Given the description of an element on the screen output the (x, y) to click on. 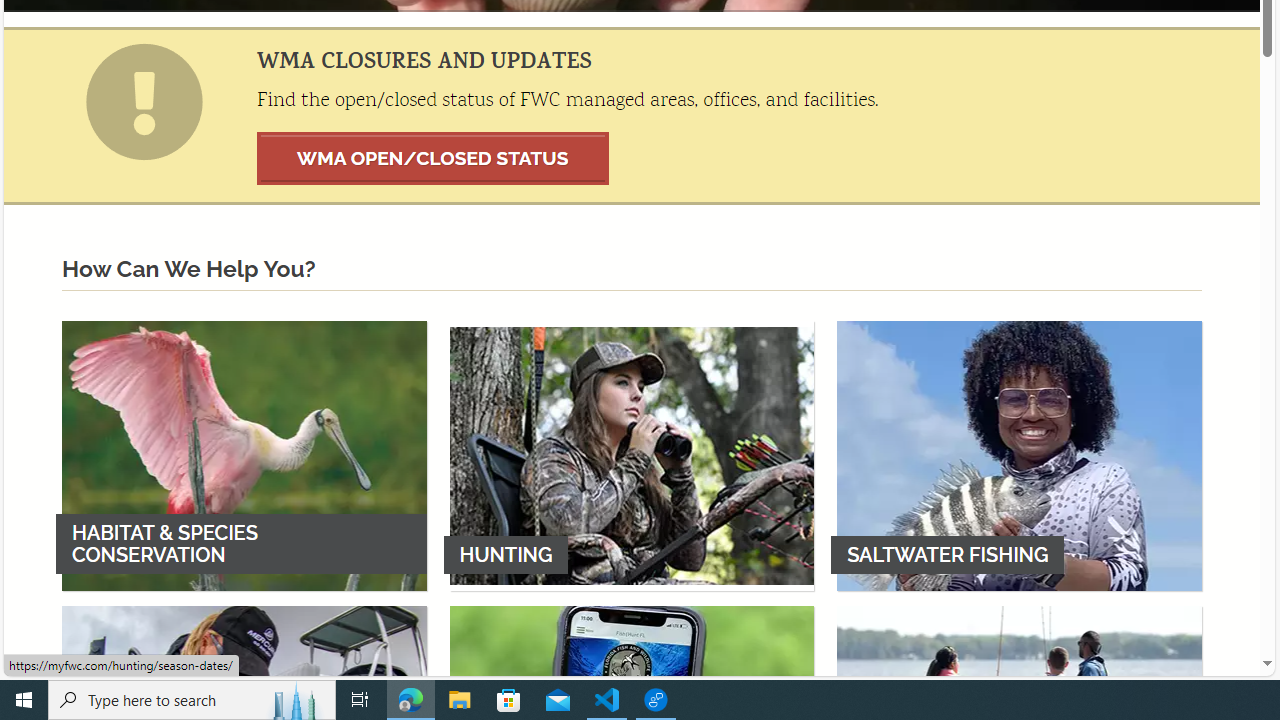
HABITAT & SPECIES CONSERVATION (244, 455)
SALTWATER FISHING (1019, 455)
WMA OPEN/CLOSED STATUS (433, 158)
HUNTING (632, 455)
